Given the description of an element on the screen output the (x, y) to click on. 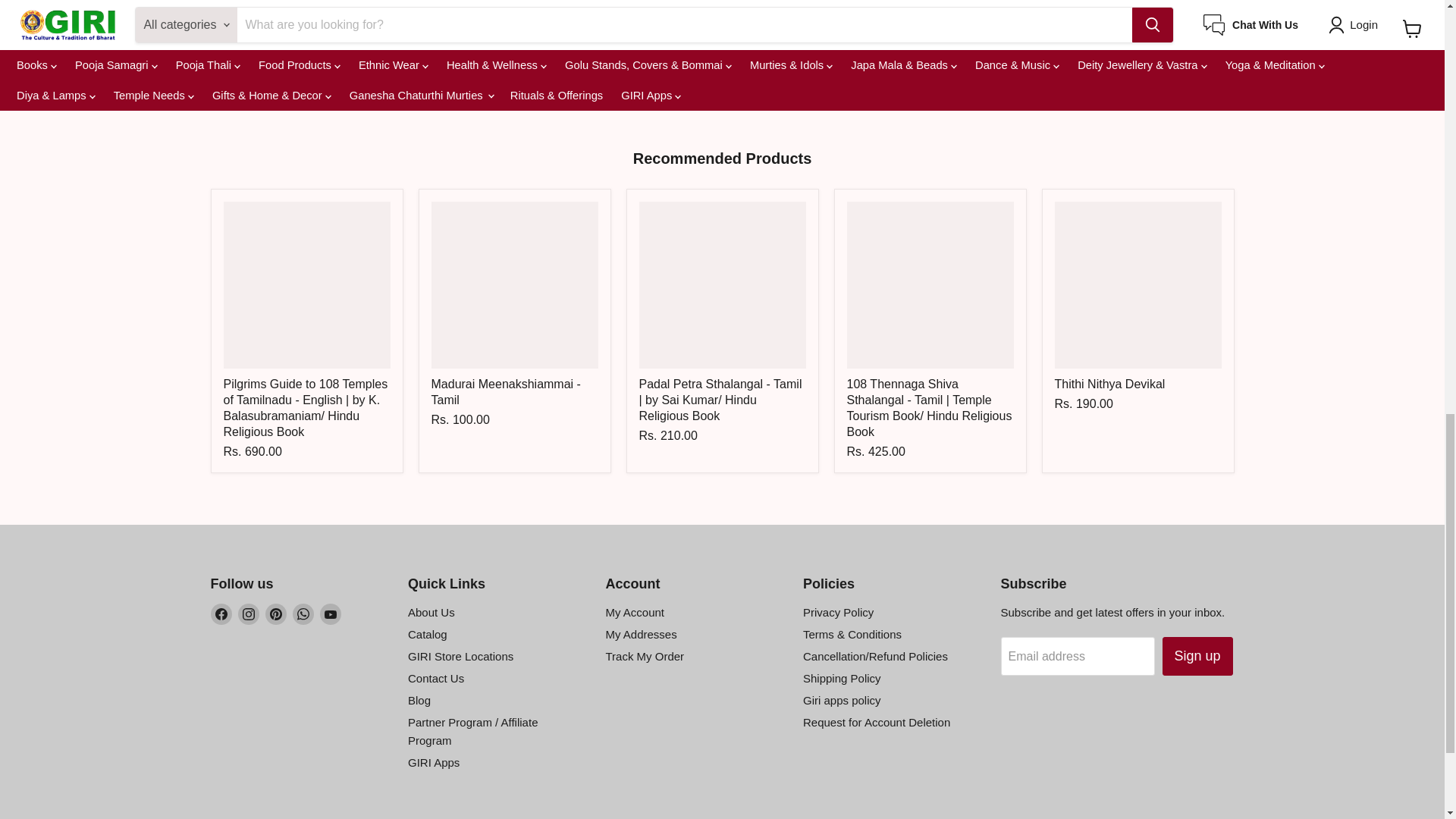
Pinterest (275, 613)
YouTube (330, 613)
Facebook (221, 613)
WhatsApp (303, 613)
Instagram (248, 613)
